Given the description of an element on the screen output the (x, y) to click on. 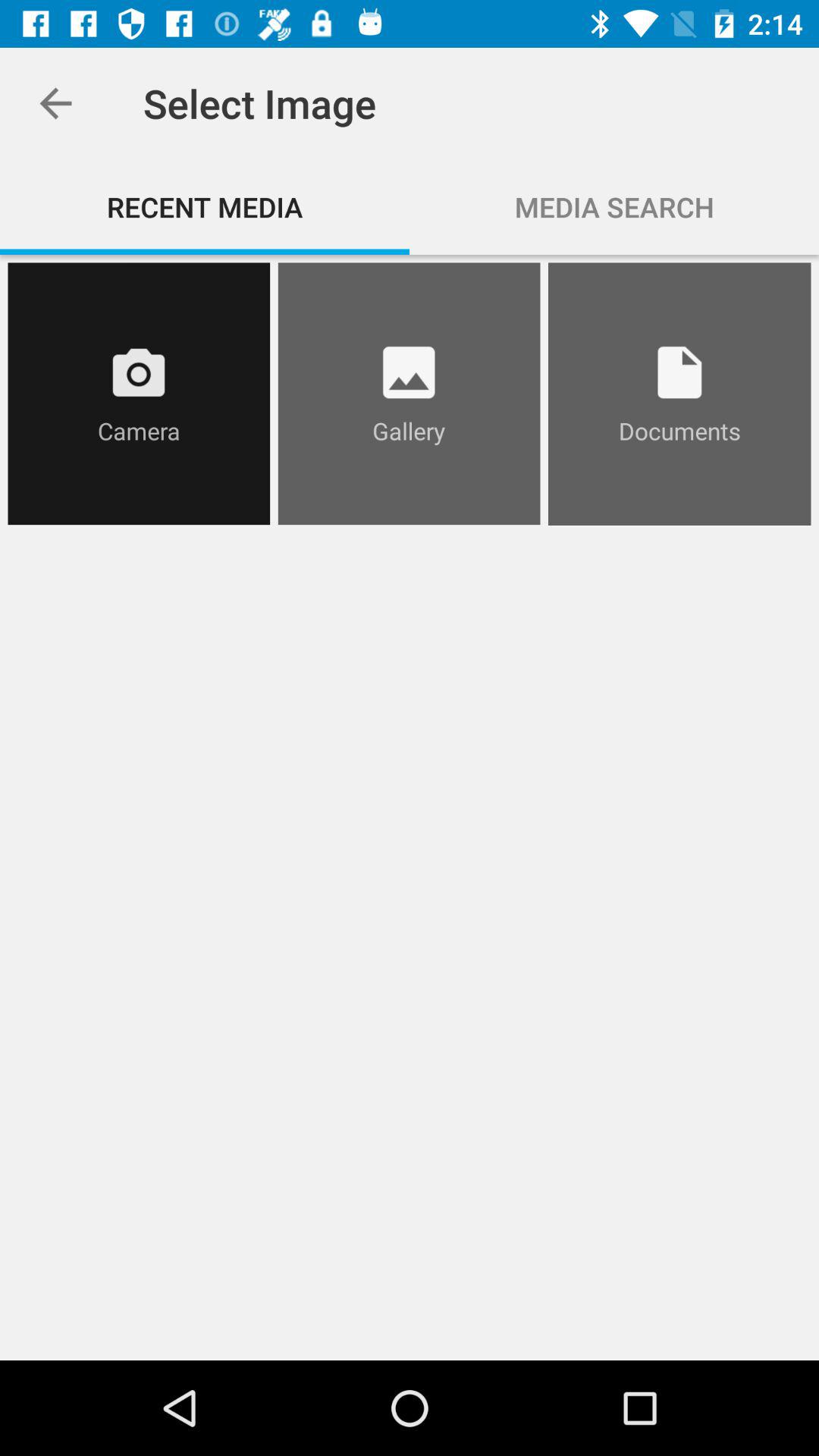
turn on item next to the recent media item (614, 206)
